Given the description of an element on the screen output the (x, y) to click on. 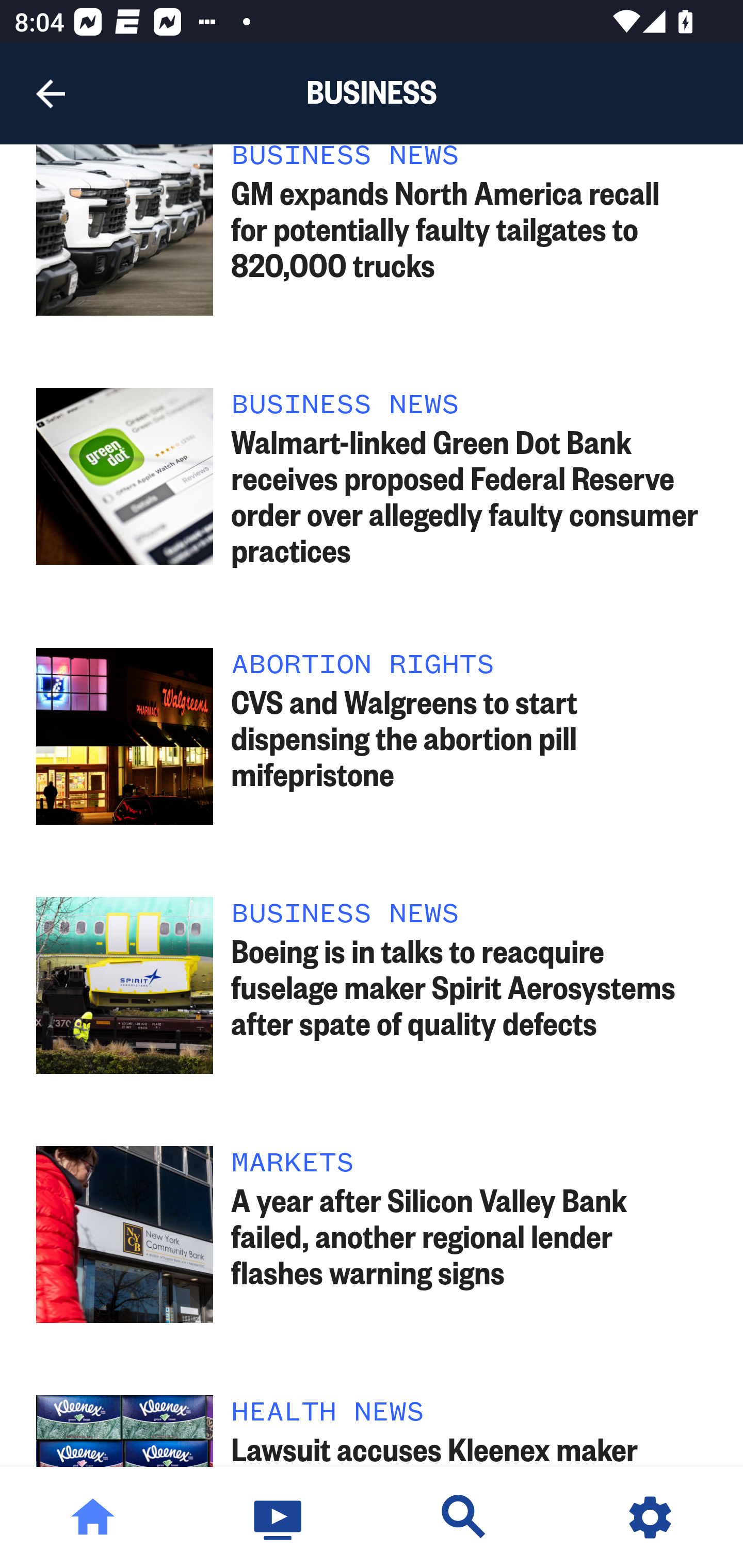
Navigate up (50, 93)
Watch (278, 1517)
Discover (464, 1517)
Settings (650, 1517)
